Given the description of an element on the screen output the (x, y) to click on. 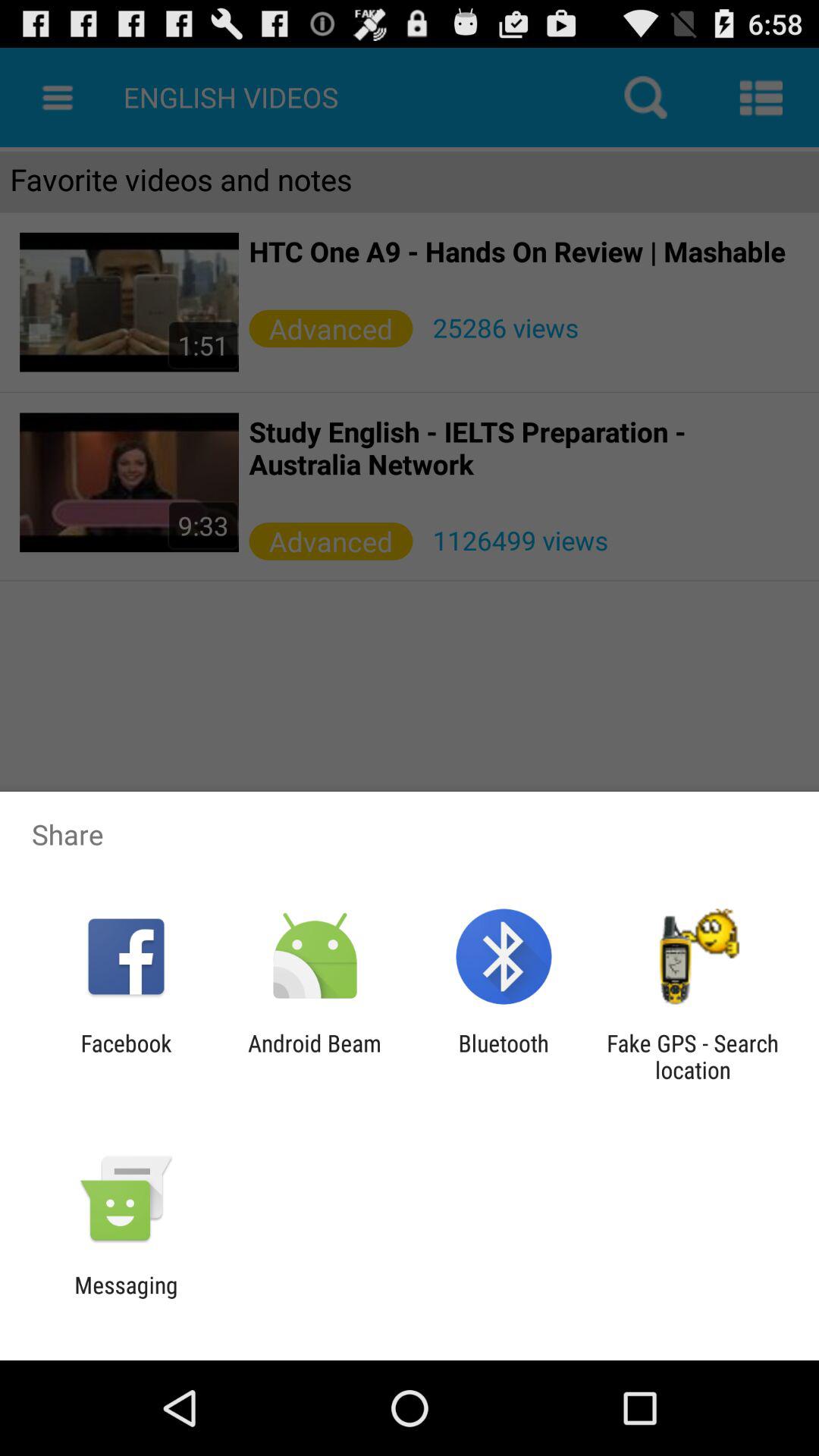
open the item to the left of android beam icon (125, 1056)
